Given the description of an element on the screen output the (x, y) to click on. 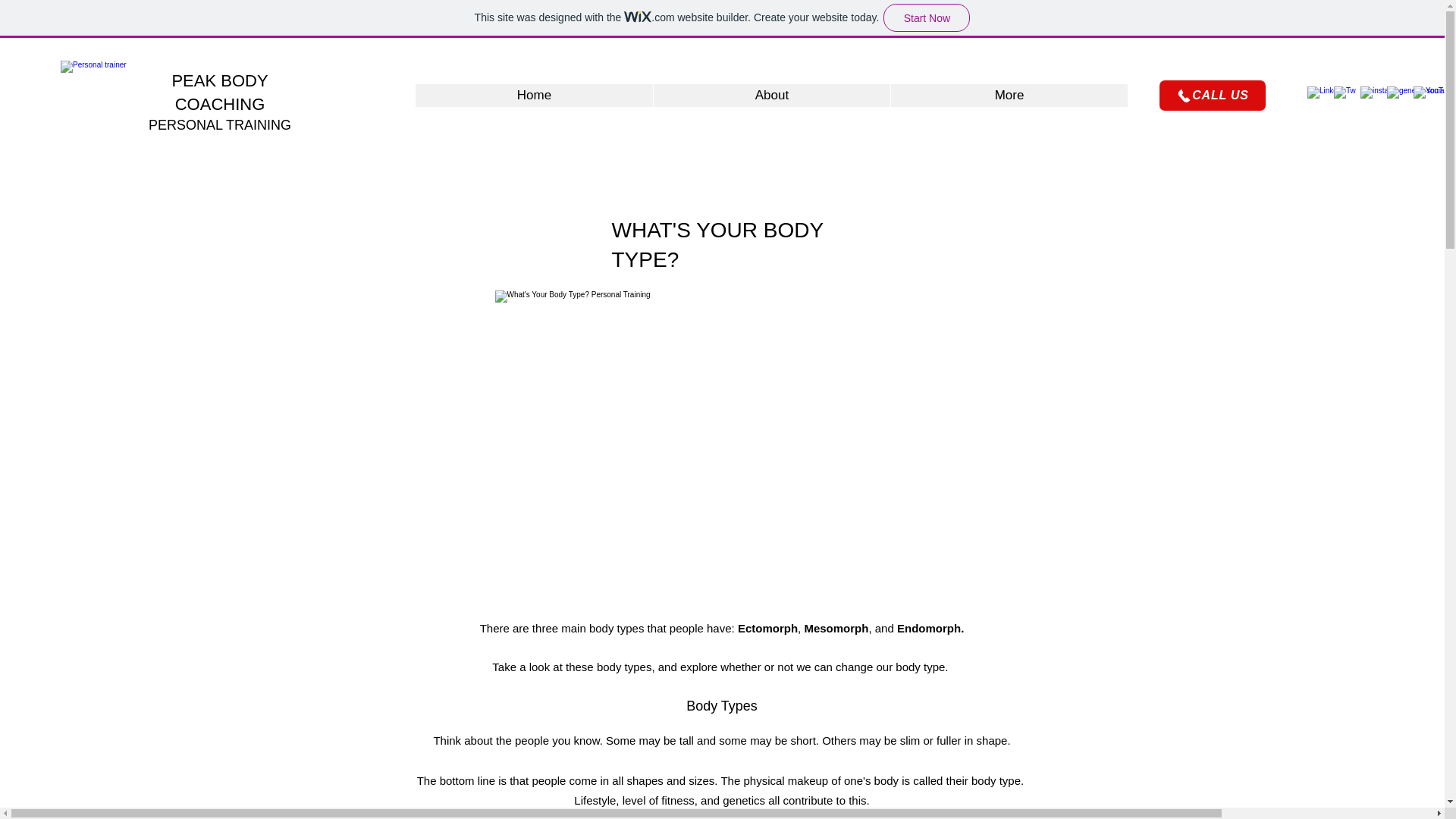
PEAK BODY COACHING (219, 92)
CALL US (1211, 95)
About (770, 95)
Home (533, 95)
